Given the description of an element on the screen output the (x, y) to click on. 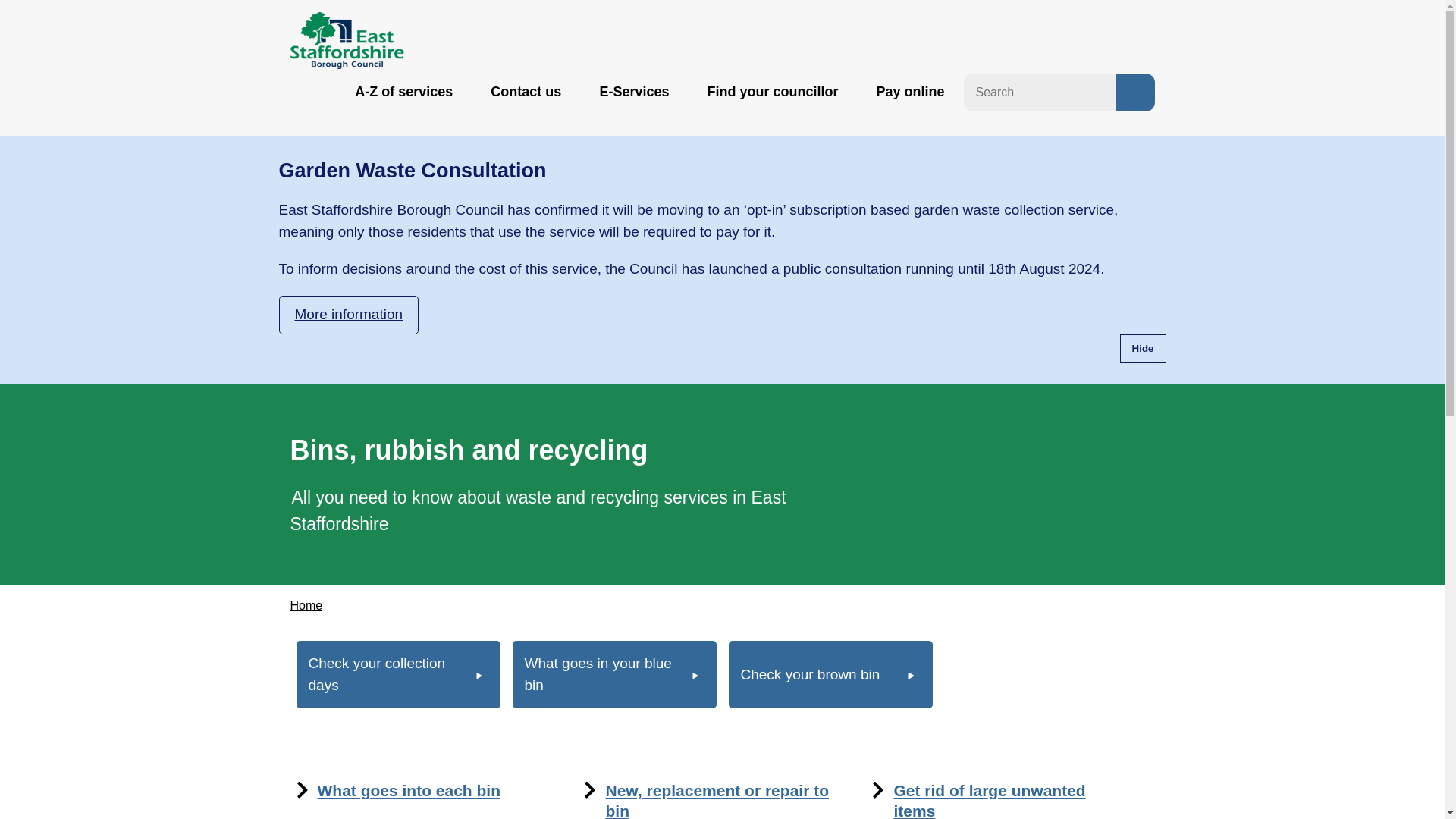
Find your councillor (772, 91)
A-Z of services (403, 91)
Home (305, 604)
More information (348, 314)
Hide (1142, 348)
Get rid of large unwanted items (988, 800)
New, replacement or repair to bin (716, 800)
Check your brown bin (829, 674)
Check your collection days (397, 674)
Contact us (525, 91)
What goes in your blue bin (614, 674)
E-Services (633, 91)
Apply (1134, 92)
What goes into each bin (408, 790)
